Given the description of an element on the screen output the (x, y) to click on. 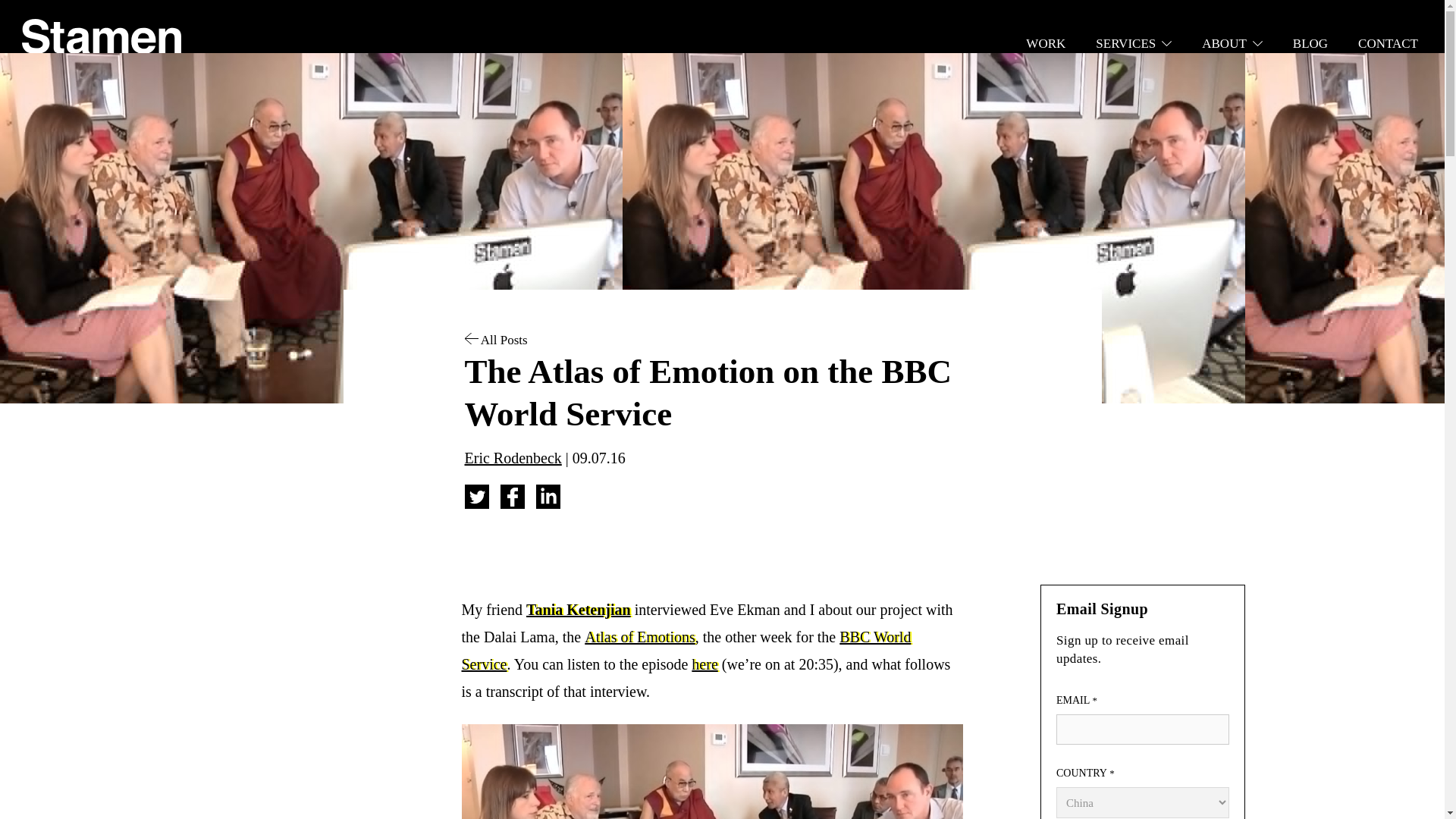
CONTACT (1388, 43)
Eric Rodenbeck (512, 457)
Atlas of Emotions (640, 636)
Tania Ketenjian (577, 609)
BBC World Service (686, 650)
ABOUT (1232, 43)
Posts by Eric Rodenbeck (512, 457)
WORK (1045, 43)
All Posts (495, 339)
here (704, 664)
